Given the description of an element on the screen output the (x, y) to click on. 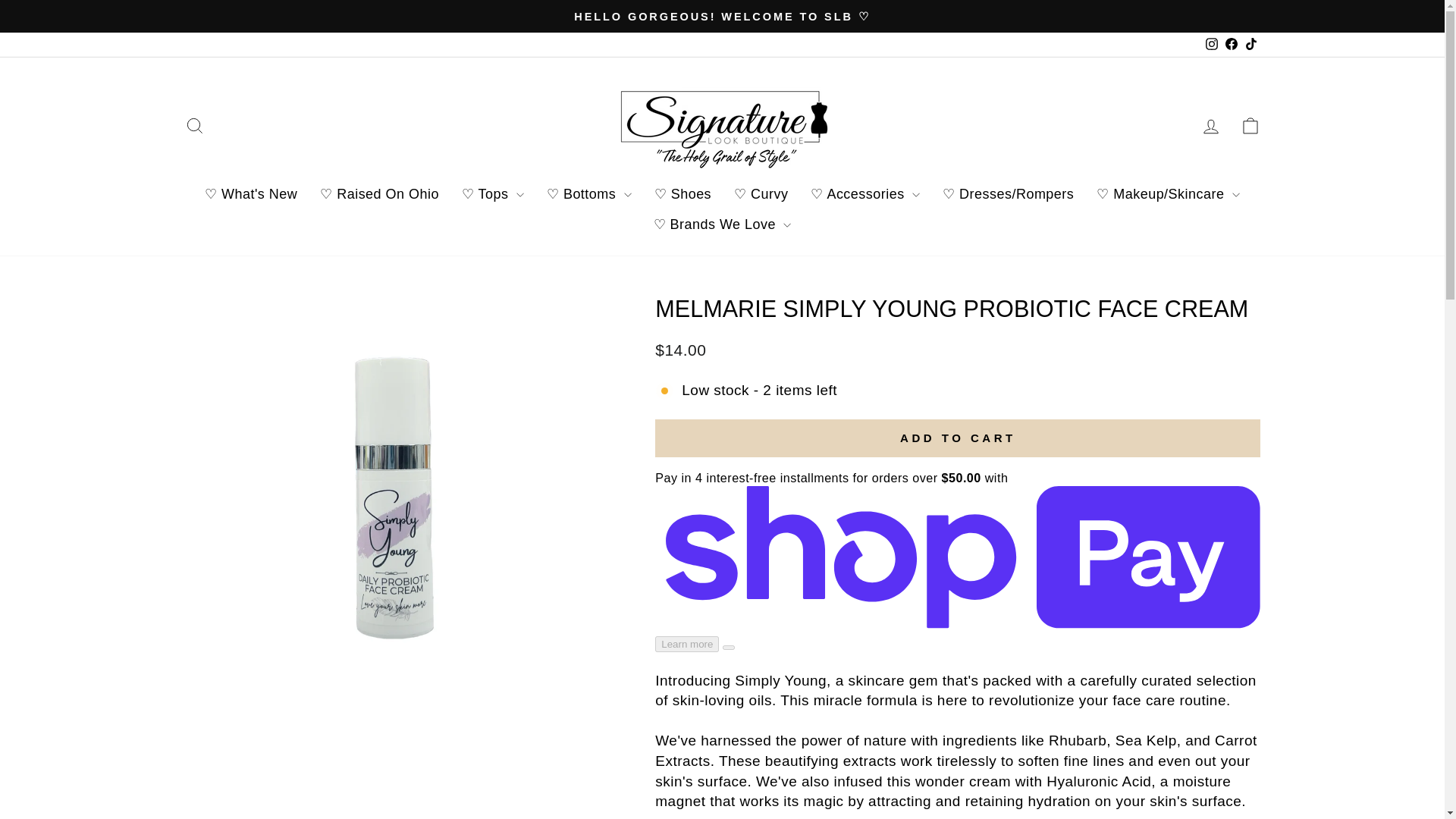
instagram (1211, 43)
icon-search (194, 125)
icon-bag-minimal (1249, 125)
account (1210, 126)
